Given the description of an element on the screen output the (x, y) to click on. 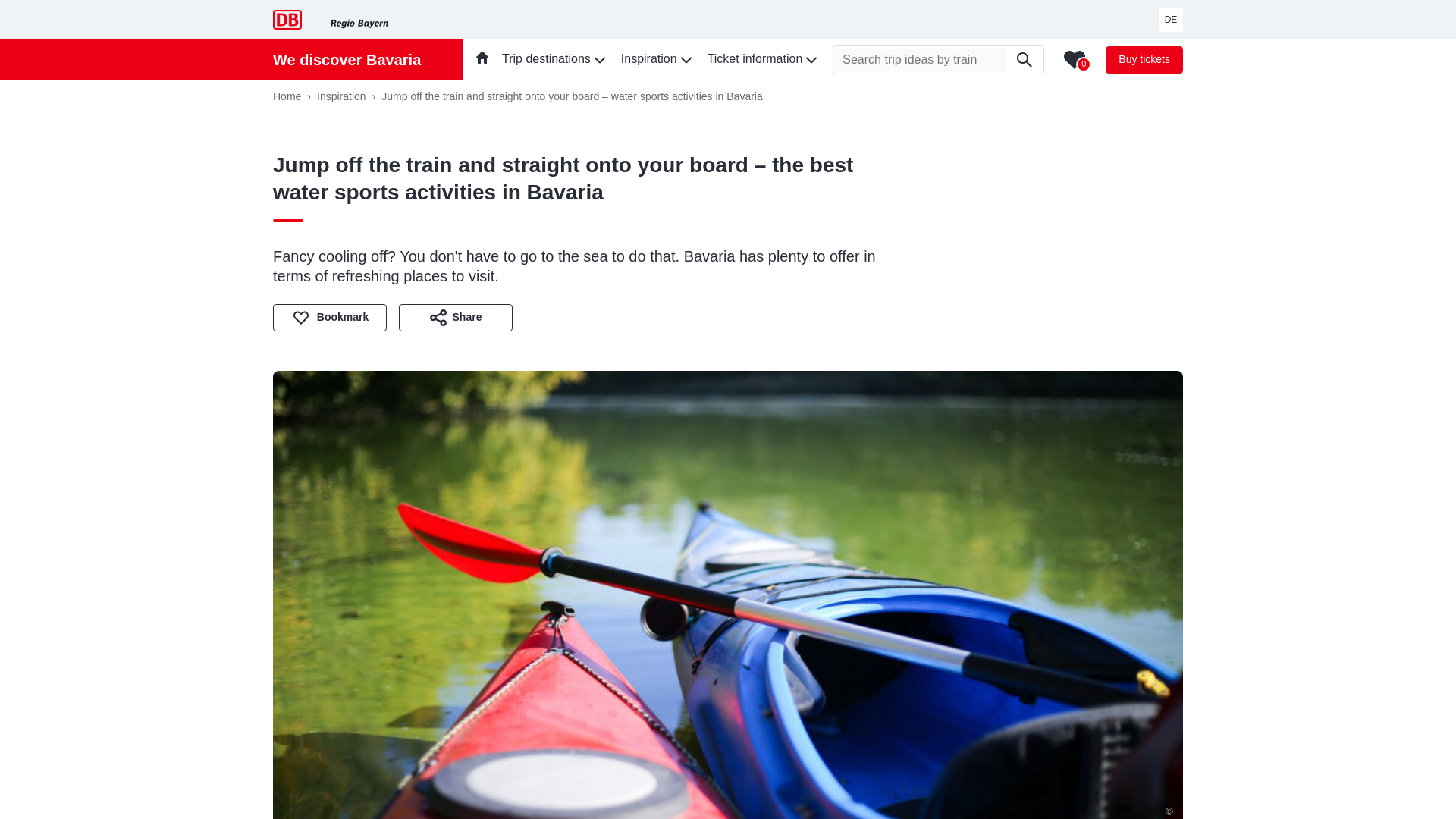
DE (1170, 19)
Inspiration (349, 96)
Bookmark (330, 317)
Trip destinations (555, 59)
Home (295, 96)
0 (1074, 58)
We discover Bavaria (346, 59)
Home (295, 96)
Search (1024, 58)
Inspiration (349, 96)
Inspiration (658, 59)
Share (455, 317)
Ticket information (764, 59)
Buy tickets (1143, 58)
